Given the description of an element on the screen output the (x, y) to click on. 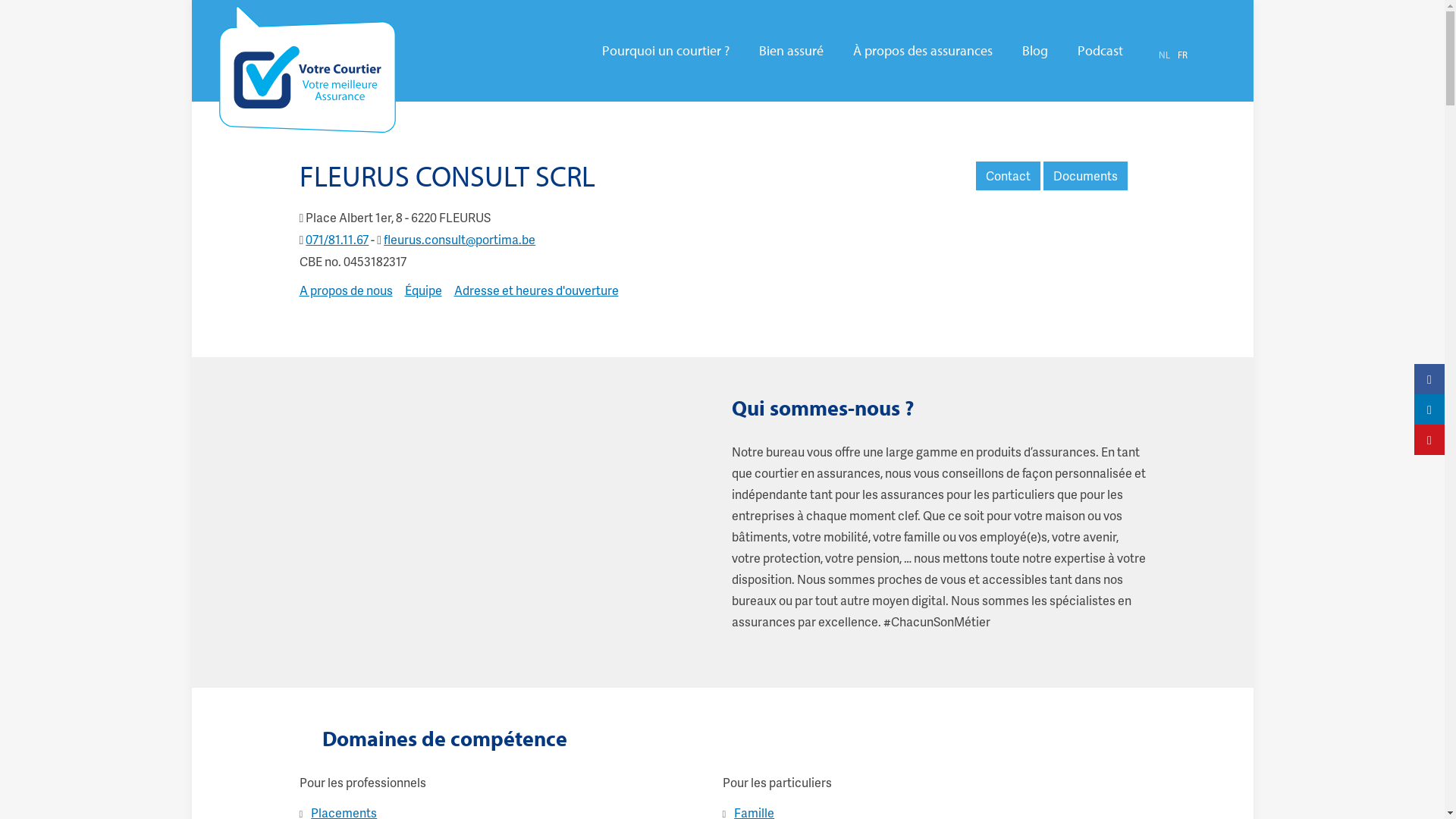
Documents Element type: text (1085, 175)
Blog Element type: text (1034, 50)
fleurus.consult@portima.be Element type: text (459, 238)
A propos de nous Element type: text (345, 289)
Contact Element type: text (1007, 175)
071/81.11.67 Element type: text (336, 238)
Podcast Element type: text (1099, 50)
NL Element type: text (1164, 54)
Pourquoi un courtier ? Element type: text (665, 50)
FR Element type: text (1181, 54)
Adresse et heures d'ouverture Element type: text (535, 289)
